Given the description of an element on the screen output the (x, y) to click on. 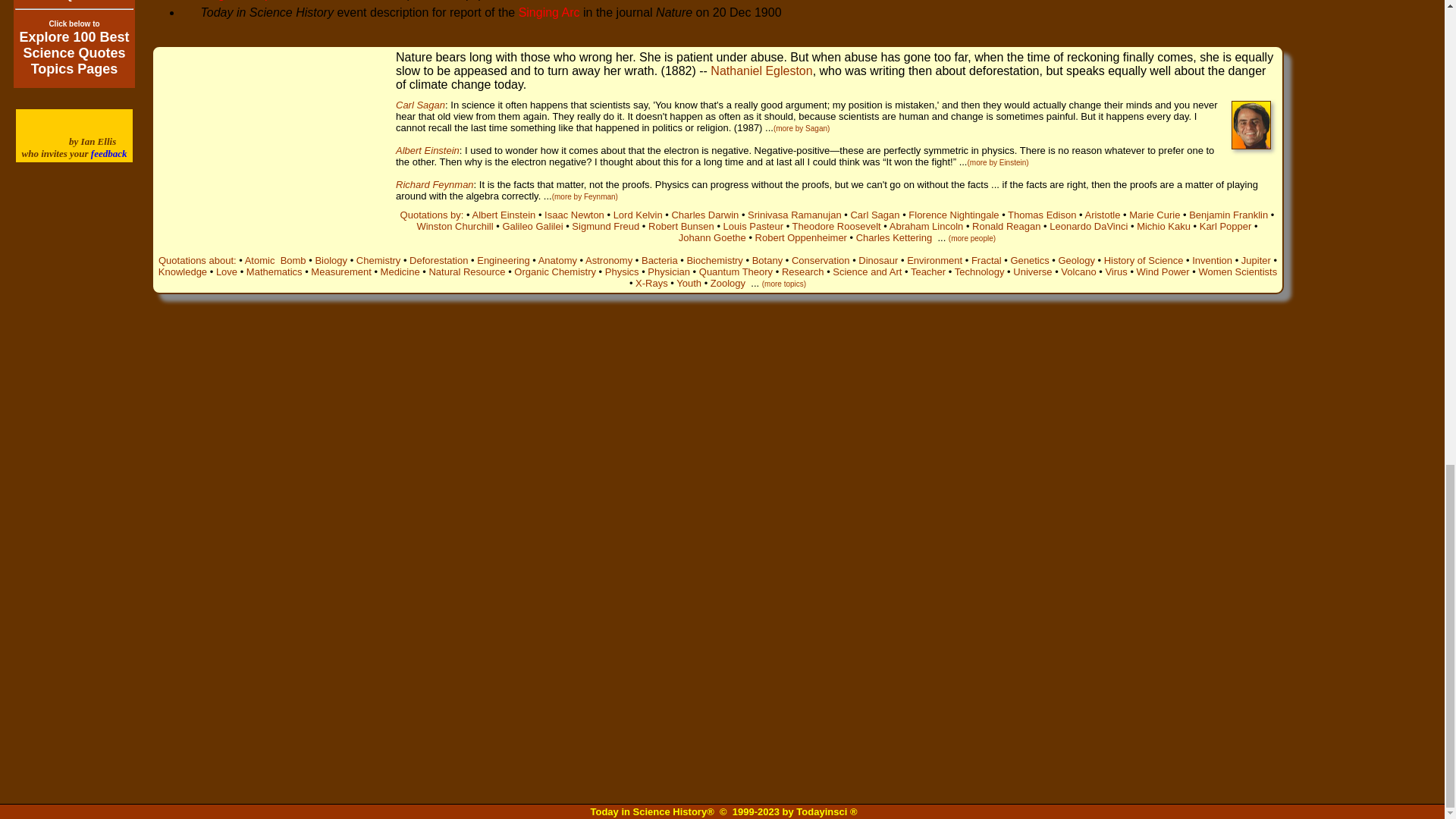
Albert Einstein (428, 150)
Nathaniel Egleston (761, 70)
Singing Arc (548, 11)
Carl Sagan (420, 104)
Richard Feynman (435, 184)
